Given the description of an element on the screen output the (x, y) to click on. 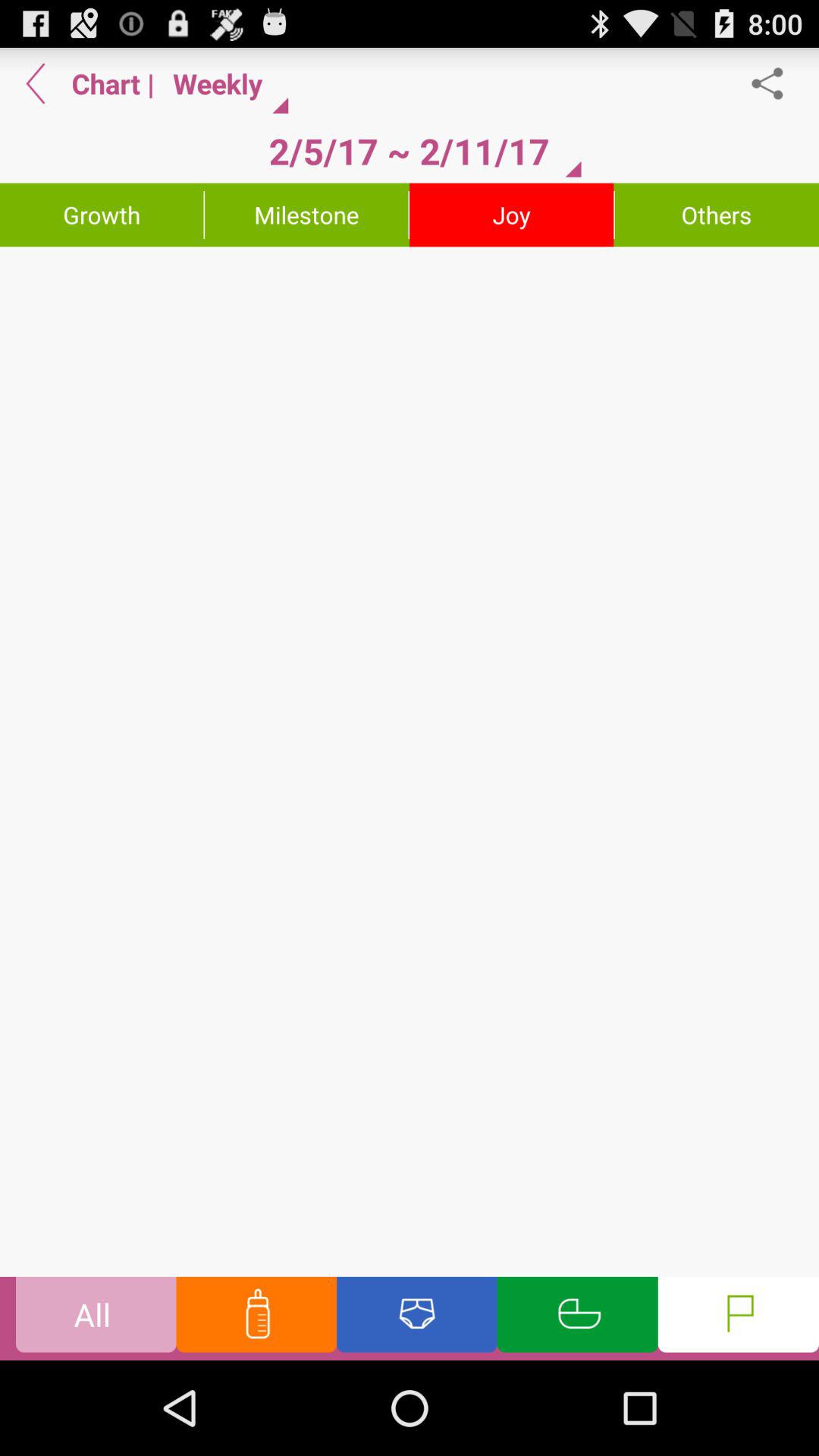
tap item to the left of the chart (35, 83)
